Given the description of an element on the screen output the (x, y) to click on. 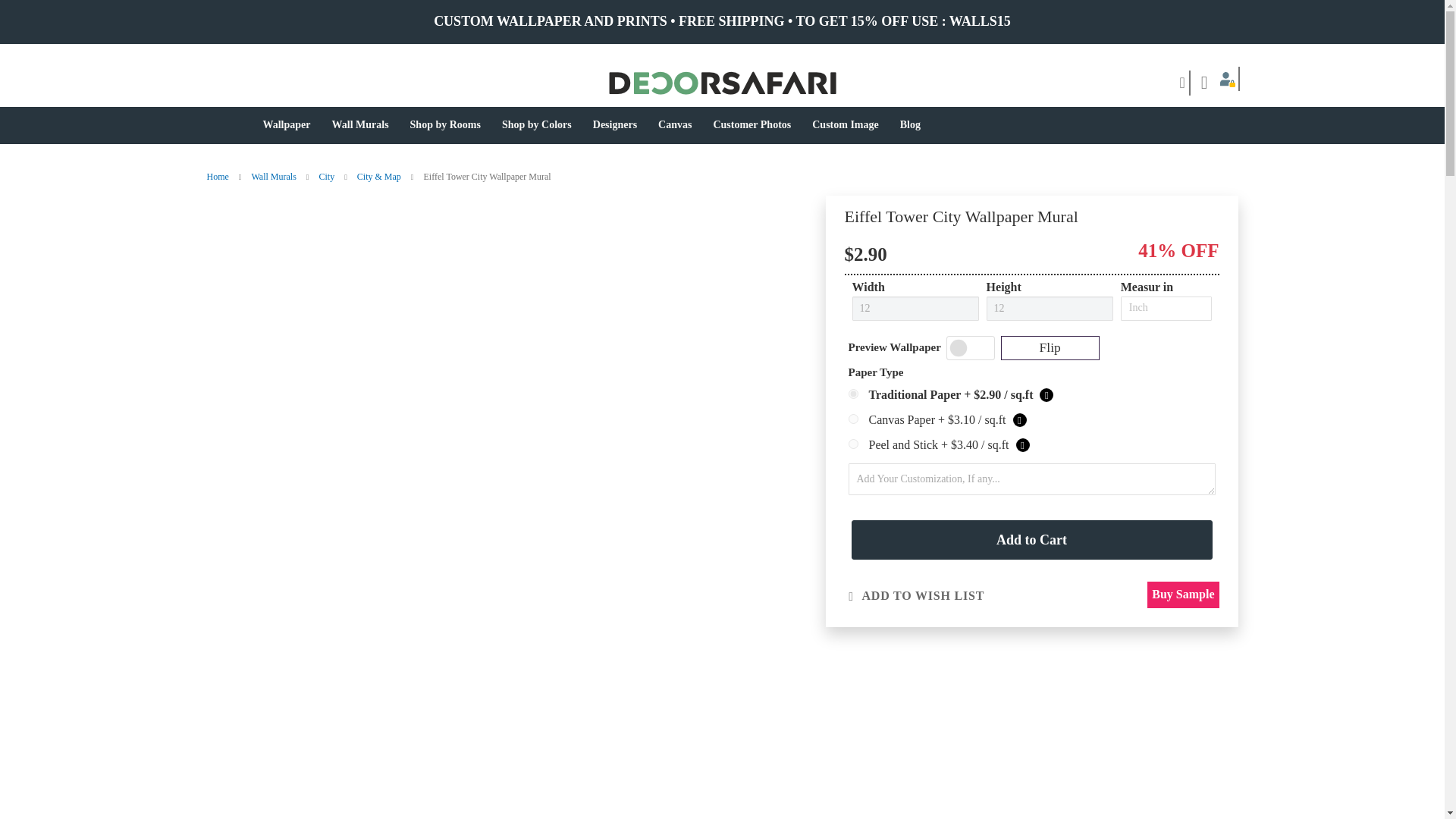
12 (914, 308)
My Cart (1204, 82)
12 (1050, 308)
on (970, 347)
Decorsafari (520, 83)
Decorsafari (721, 83)
2 (852, 419)
3 (852, 443)
1 (852, 393)
